Given the description of an element on the screen output the (x, y) to click on. 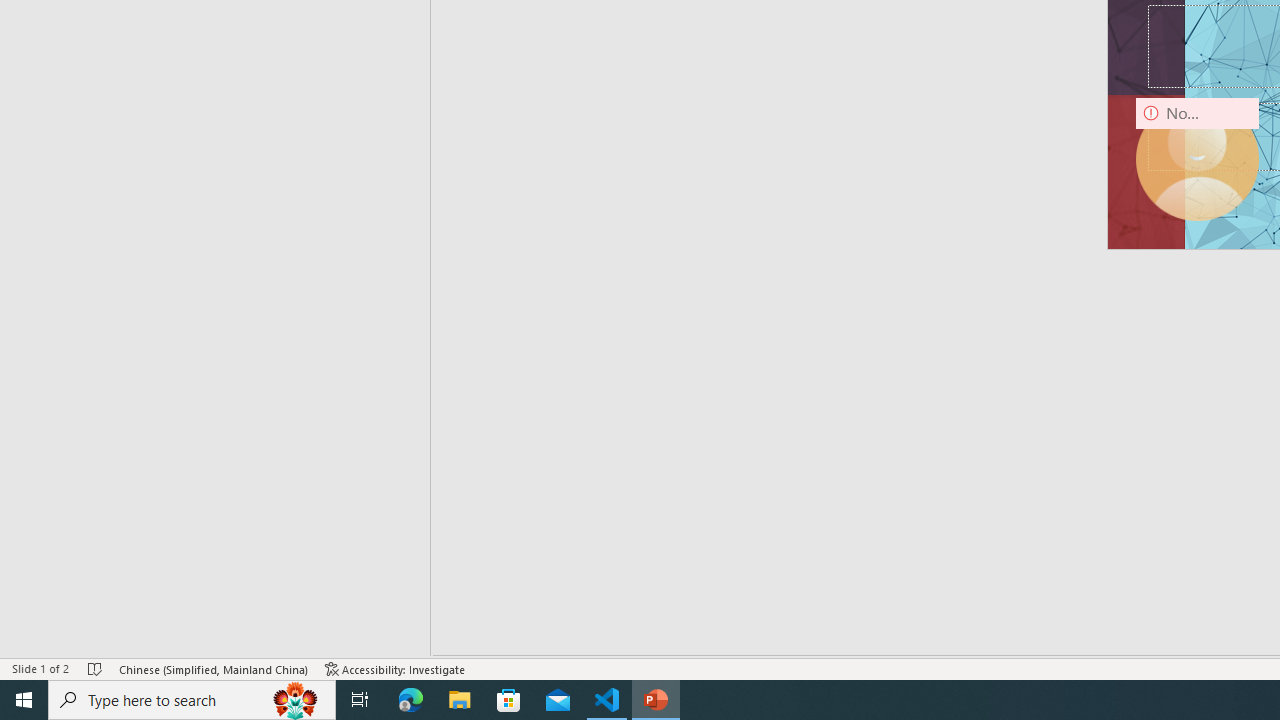
Camera 9, No camera detected. (1197, 159)
